Given the description of an element on the screen output the (x, y) to click on. 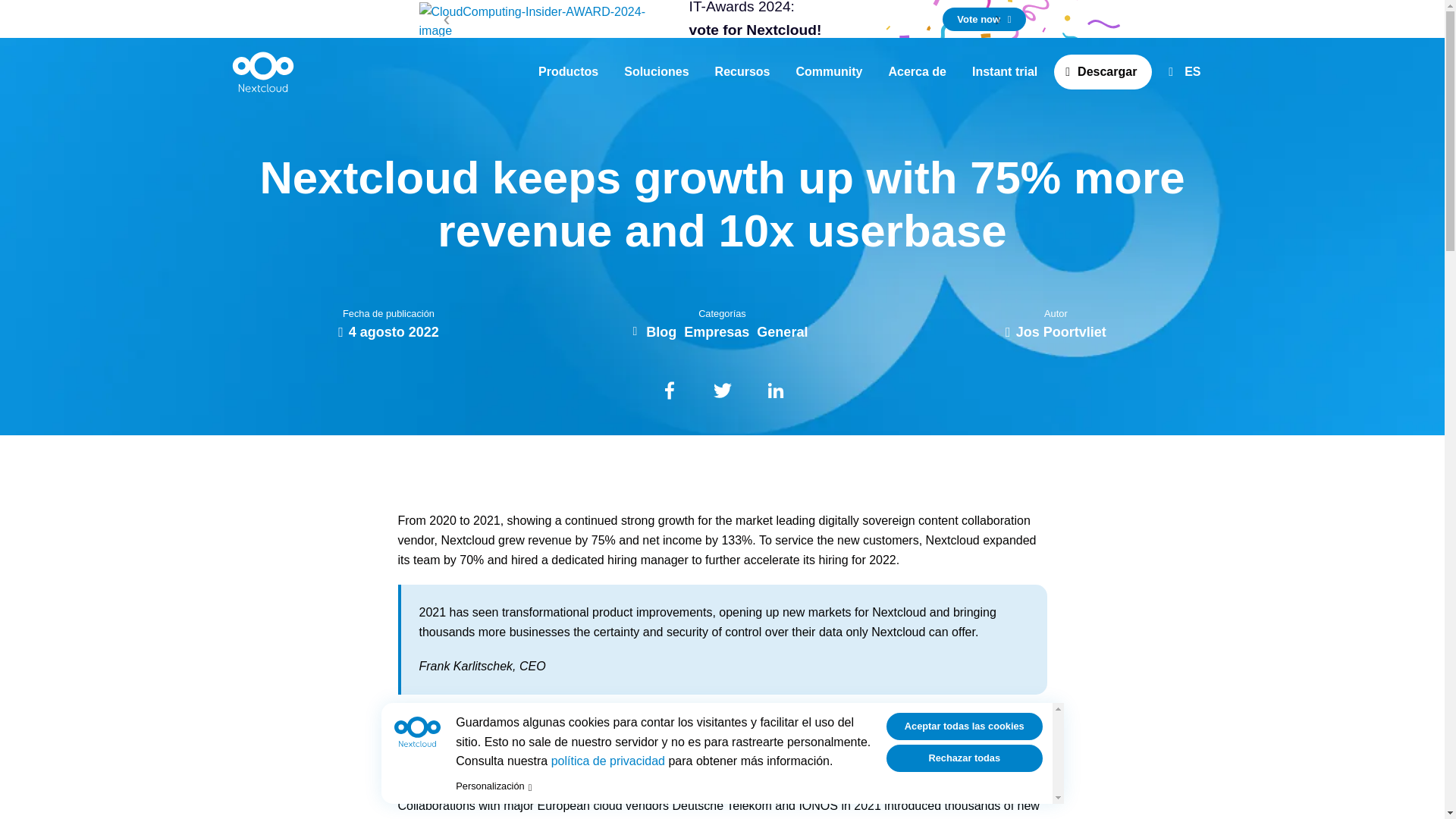
Vote for Nextcloud in the CloudComputing-Insider Award 2024 (541, 18)
Productos (568, 71)
Soluciones (655, 71)
Vote for Nextcloud in the CloudComputing-Insider Award 2024 (983, 19)
Vote for Nextcloud in the CloudComputing-Insider Award 2024 (803, 20)
Vote now (983, 19)
IT-Awards 2024: vote for Nextcloud! (803, 20)
